Given the description of an element on the screen output the (x, y) to click on. 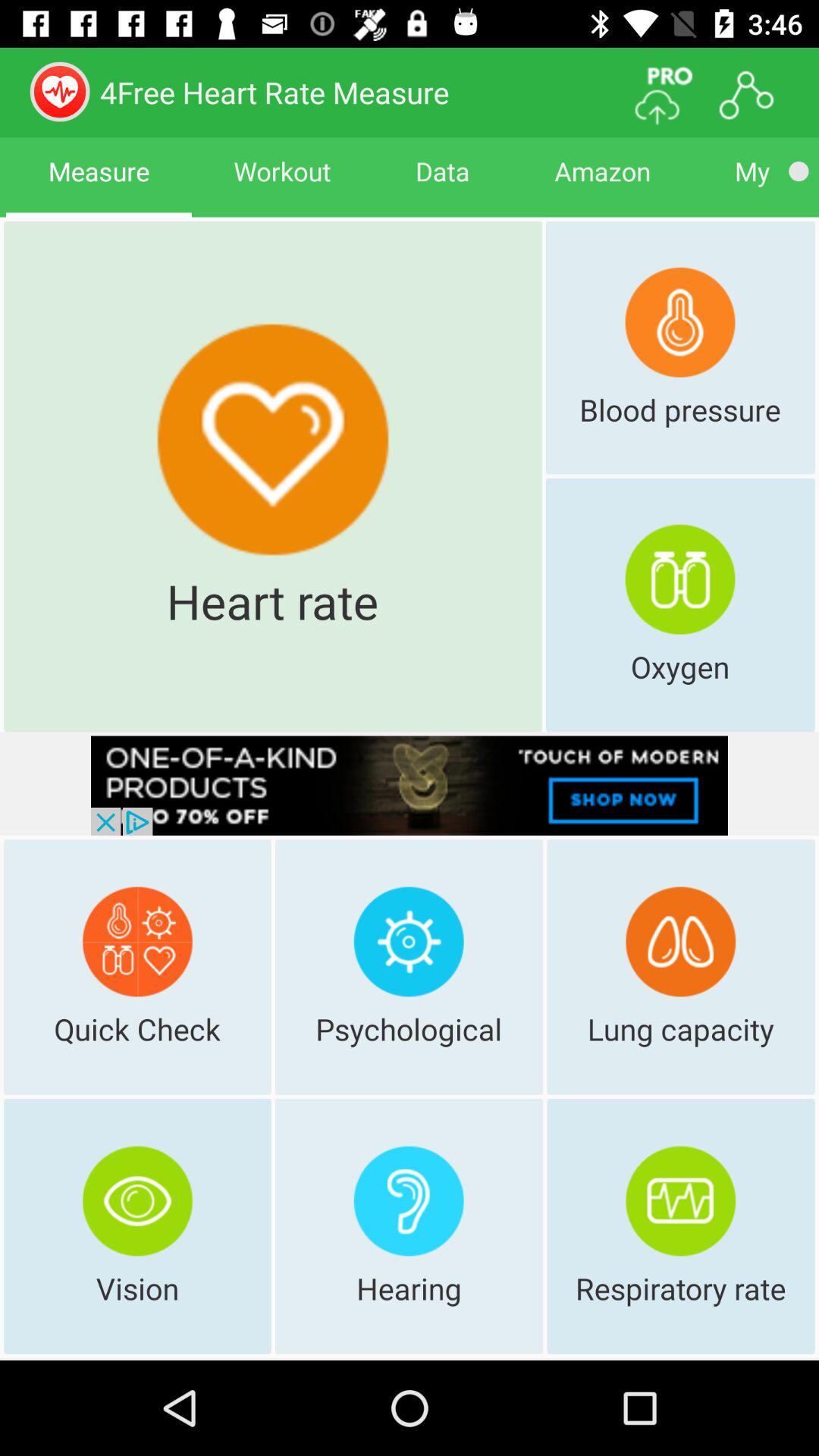
advertisement (409, 785)
